Given the description of an element on the screen output the (x, y) to click on. 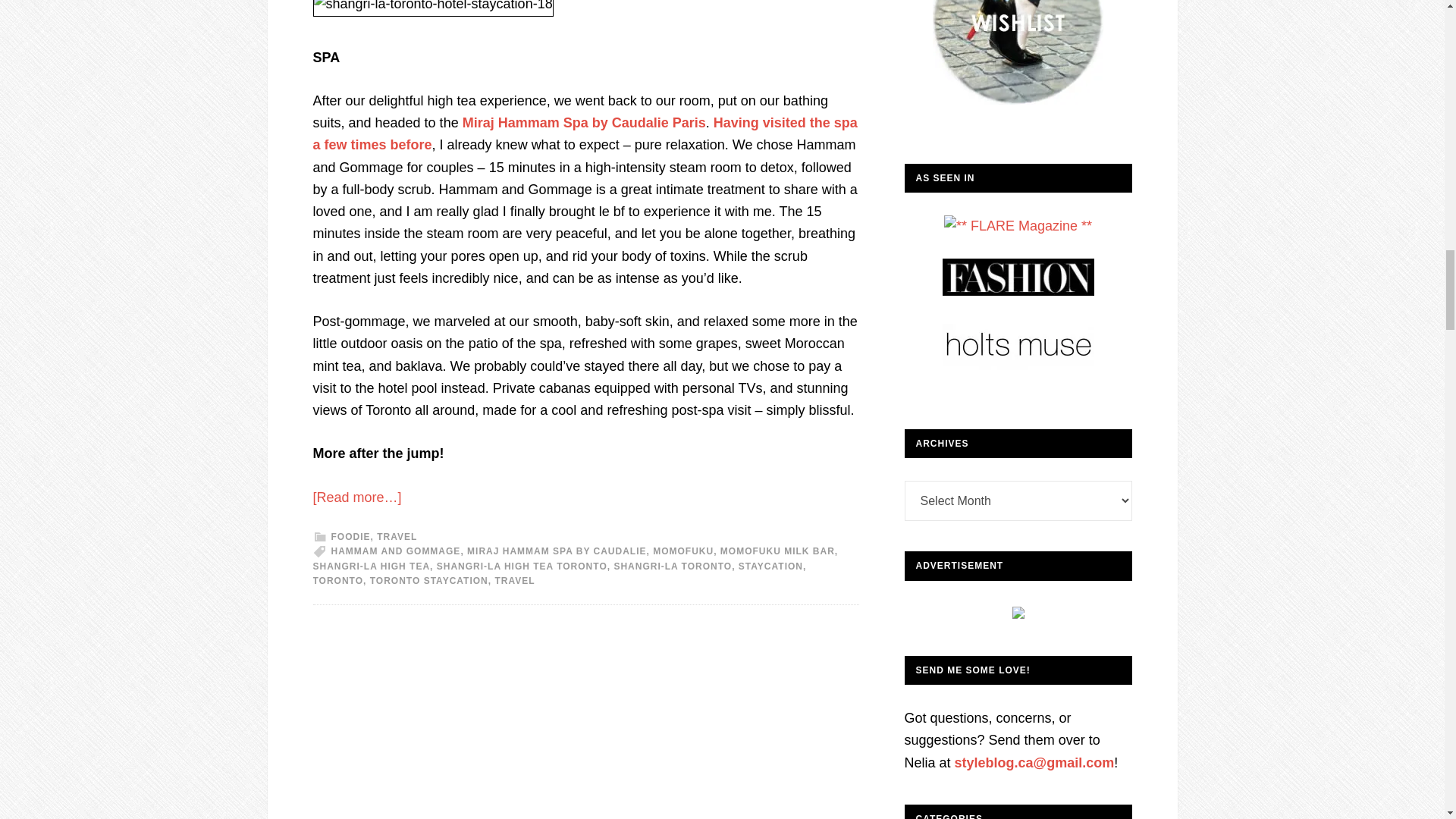
SHANGRI-LA TORONTO (672, 566)
FOODIE (349, 536)
HAMMAM AND GOMMAGE (395, 551)
MIRAJ HAMMAM SPA BY CAUDALIE (556, 551)
TORONTO (337, 580)
TORONTO STAYCATION (428, 580)
TRAVEL (514, 580)
MOMOFUKU MILK BAR (777, 551)
MOMOFUKU (682, 551)
TRAVEL (396, 536)
